Given the description of an element on the screen output the (x, y) to click on. 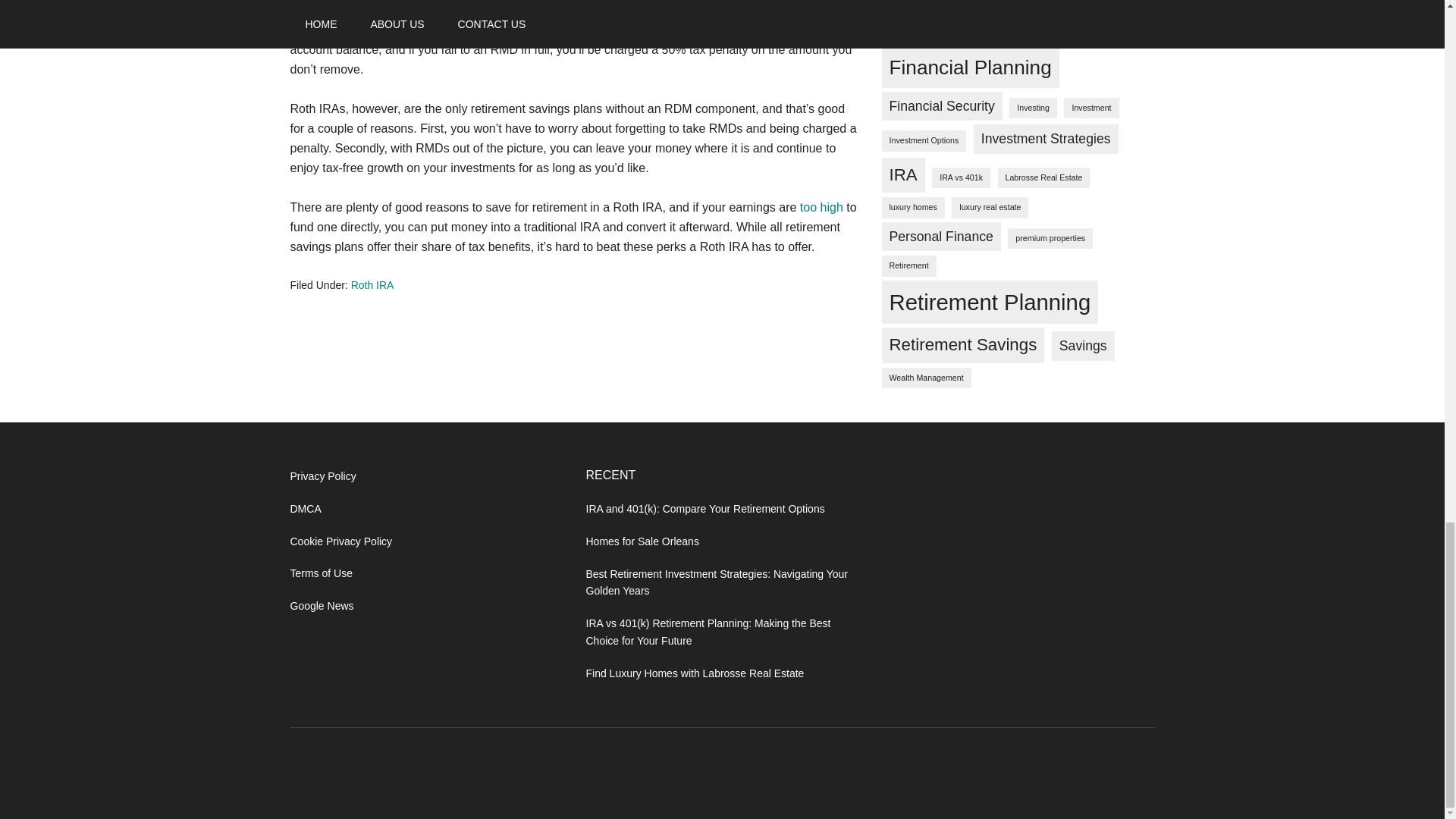
required minimum distributions (634, 10)
Roth IRA (372, 285)
too high (821, 206)
